Given the description of an element on the screen output the (x, y) to click on. 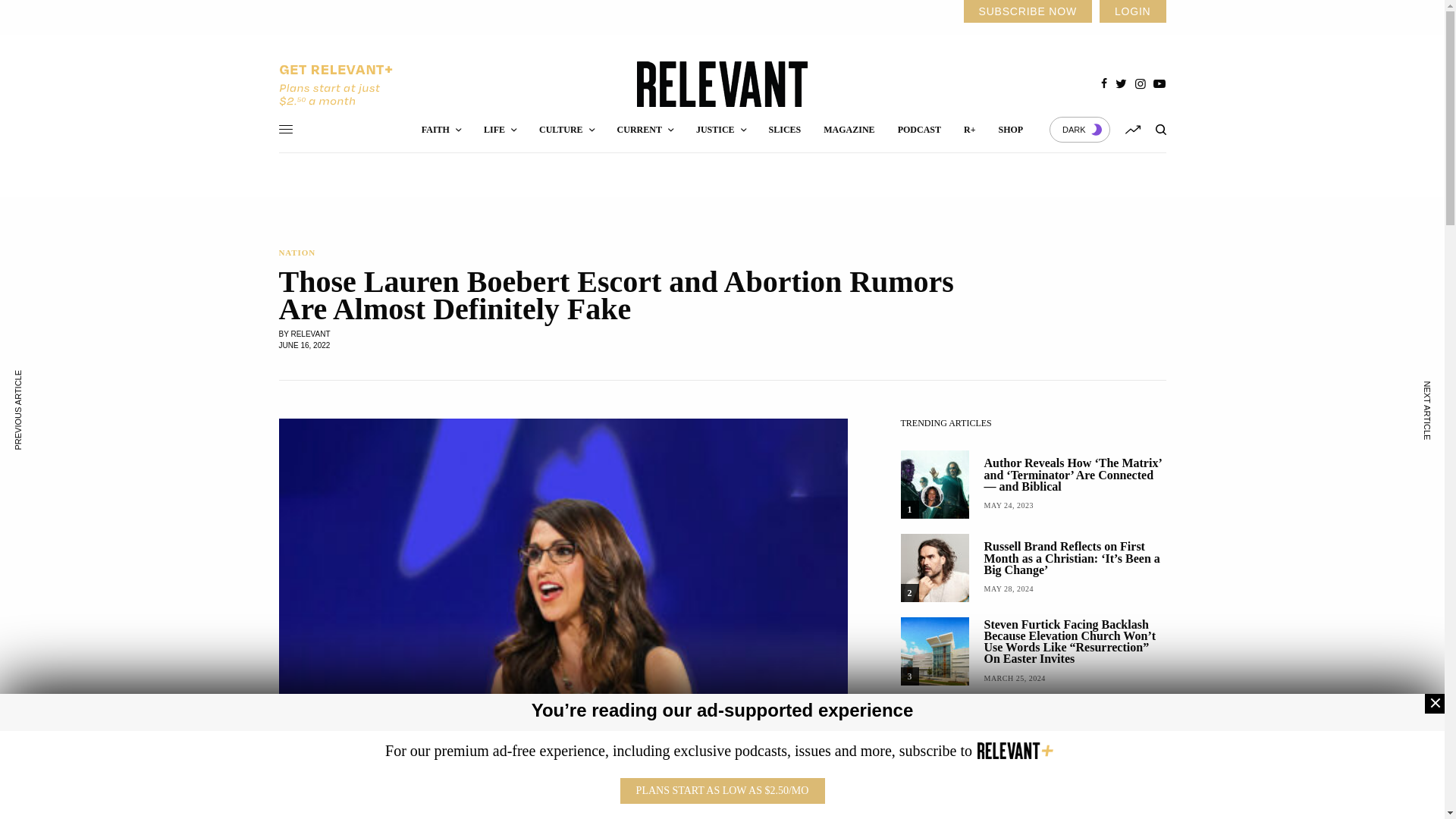
RELEVANT (722, 84)
SUBSCRIBE NOW (1026, 11)
LOGIN (1132, 11)
